Given the description of an element on the screen output the (x, y) to click on. 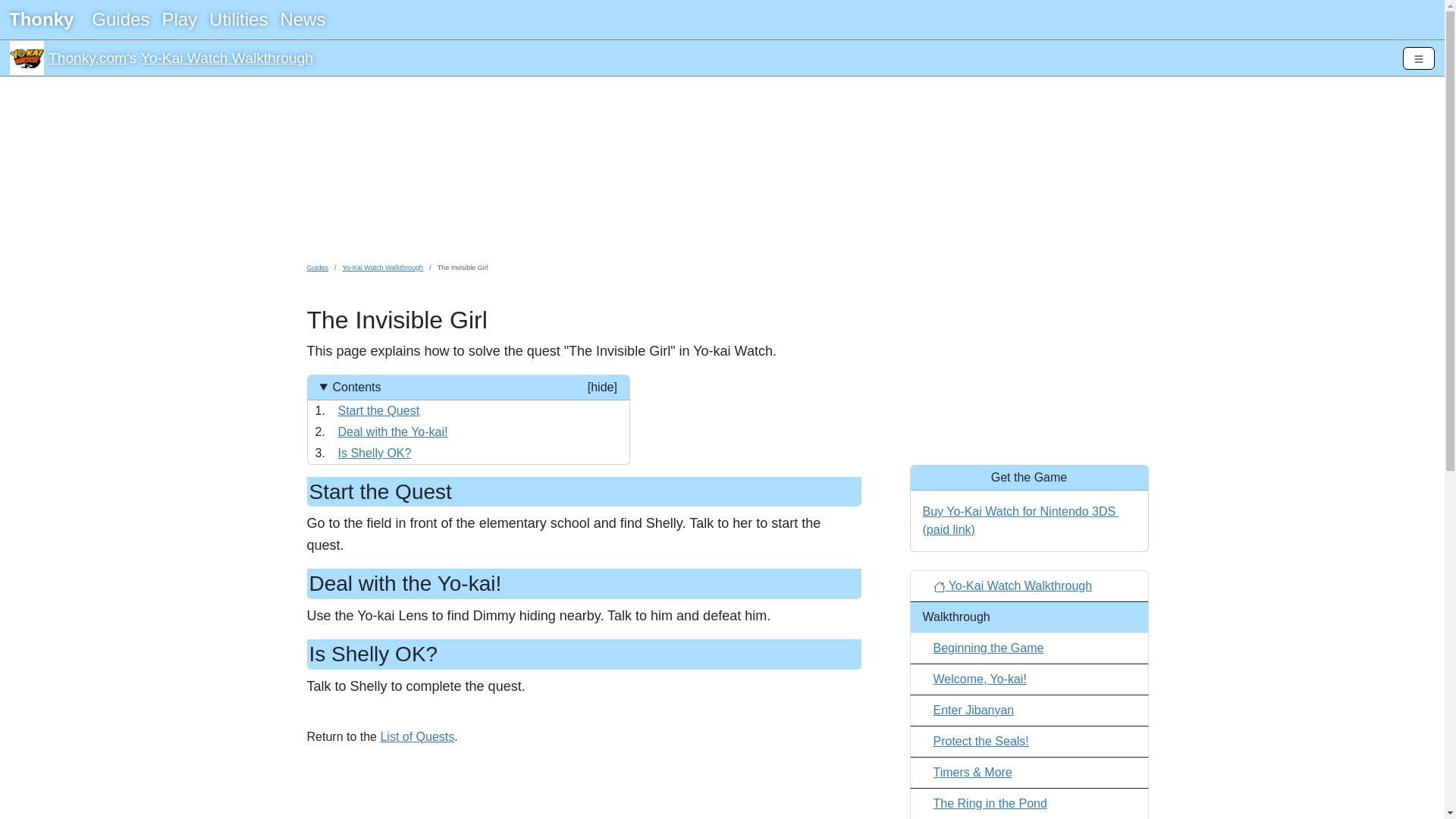
Deal with the Yo-kai! (392, 431)
Welcome, Yo-kai! (979, 678)
Yo-Kai Watch Walkthrough (227, 57)
Thonky.com (87, 57)
Beginning the Game (988, 647)
Thonky (41, 19)
Advertisement (721, 169)
List of Quests (417, 736)
Enter Jibanyan (973, 709)
News (302, 19)
Yo-Kai Watch Walkthrough (26, 57)
Guides (120, 19)
Advertisement (1029, 357)
